Given the description of an element on the screen output the (x, y) to click on. 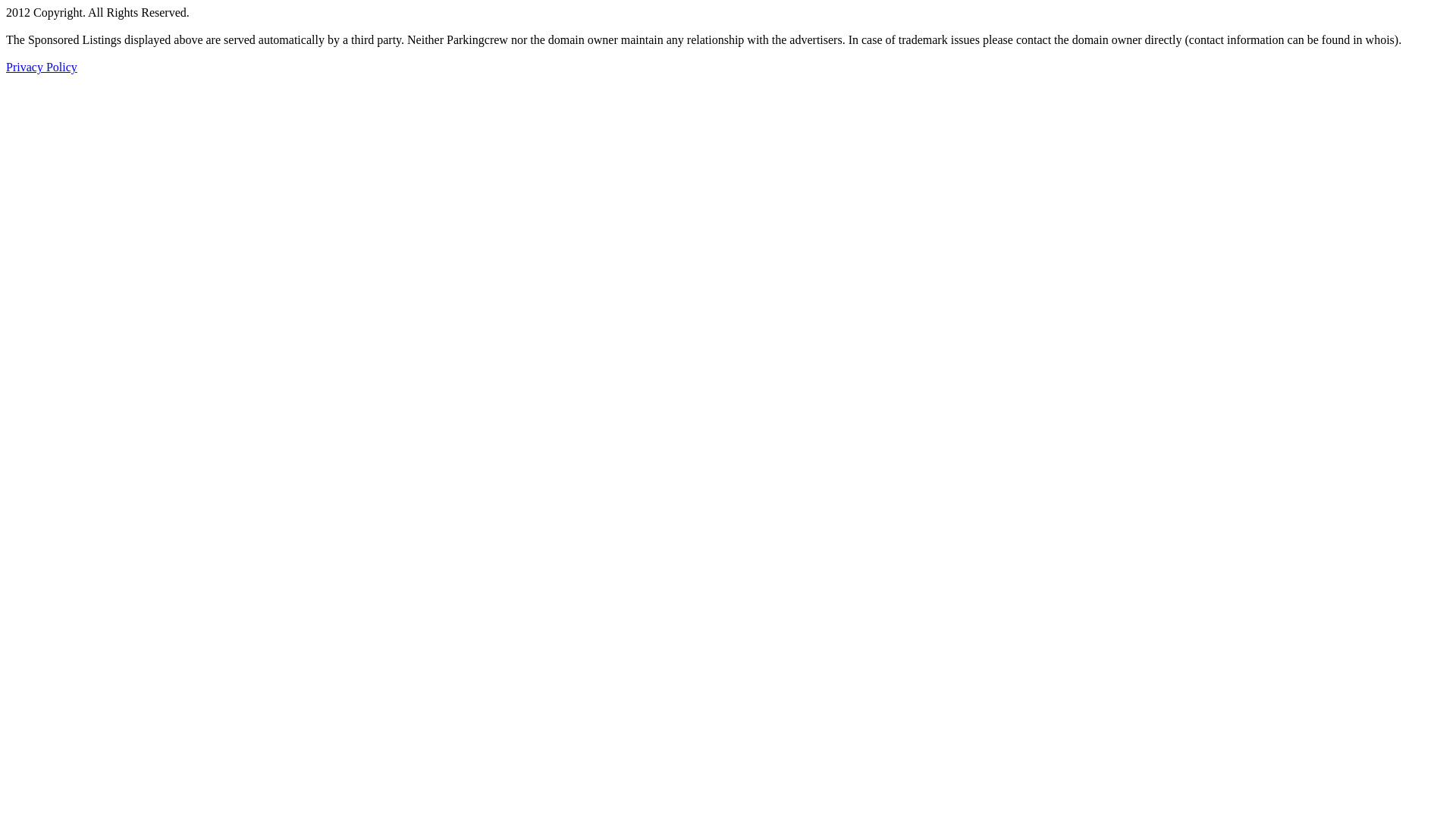
Privacy Policy Element type: text (41, 66)
